Given the description of an element on the screen output the (x, y) to click on. 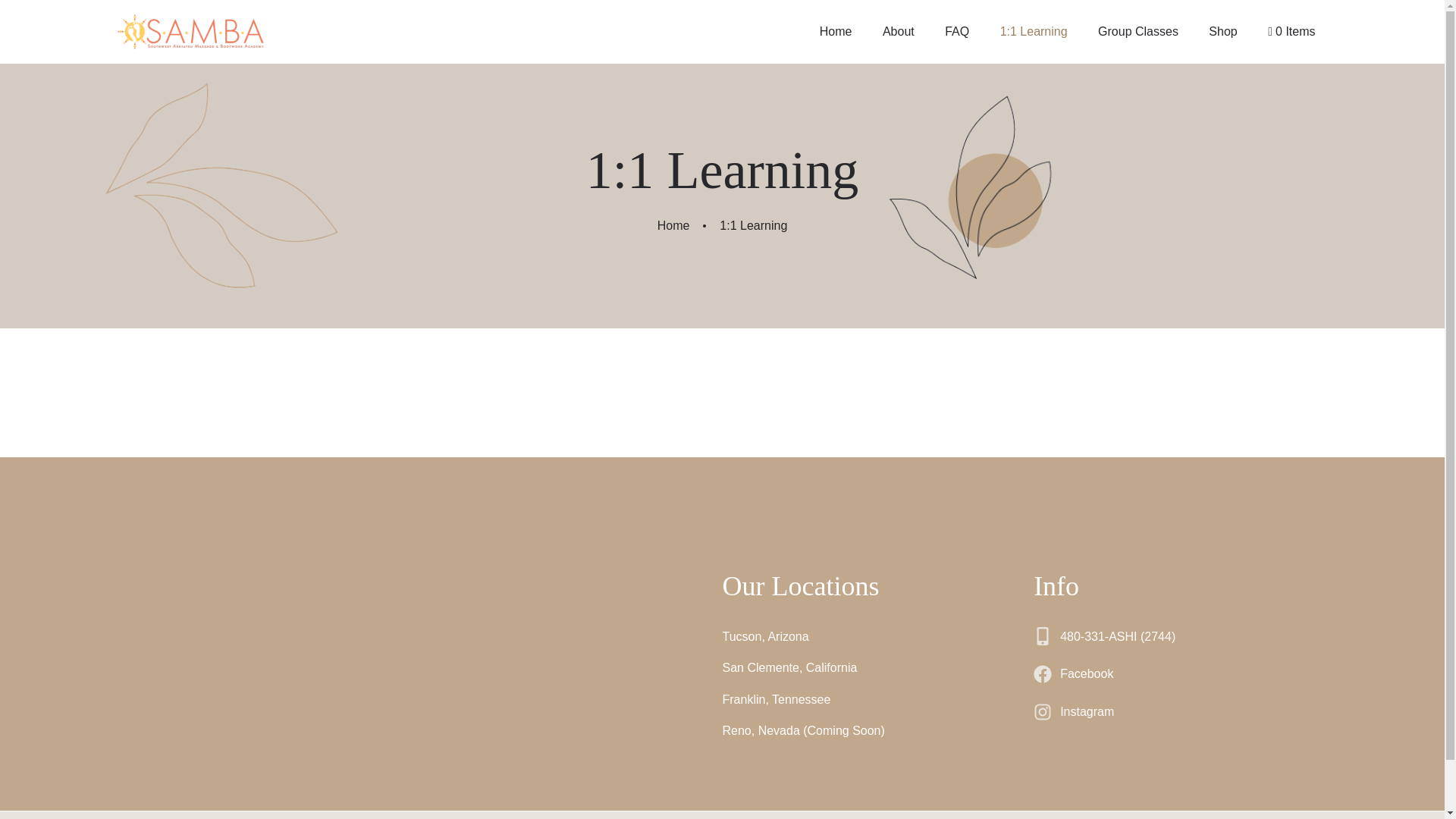
0 Items (1290, 31)
Home (674, 225)
1:1 Learning (1034, 31)
Instagram (1073, 712)
Start shopping (1290, 31)
Facebook (1073, 673)
Shop (1222, 31)
About (898, 31)
Home (836, 31)
Group Classes (1138, 31)
